Given the description of an element on the screen output the (x, y) to click on. 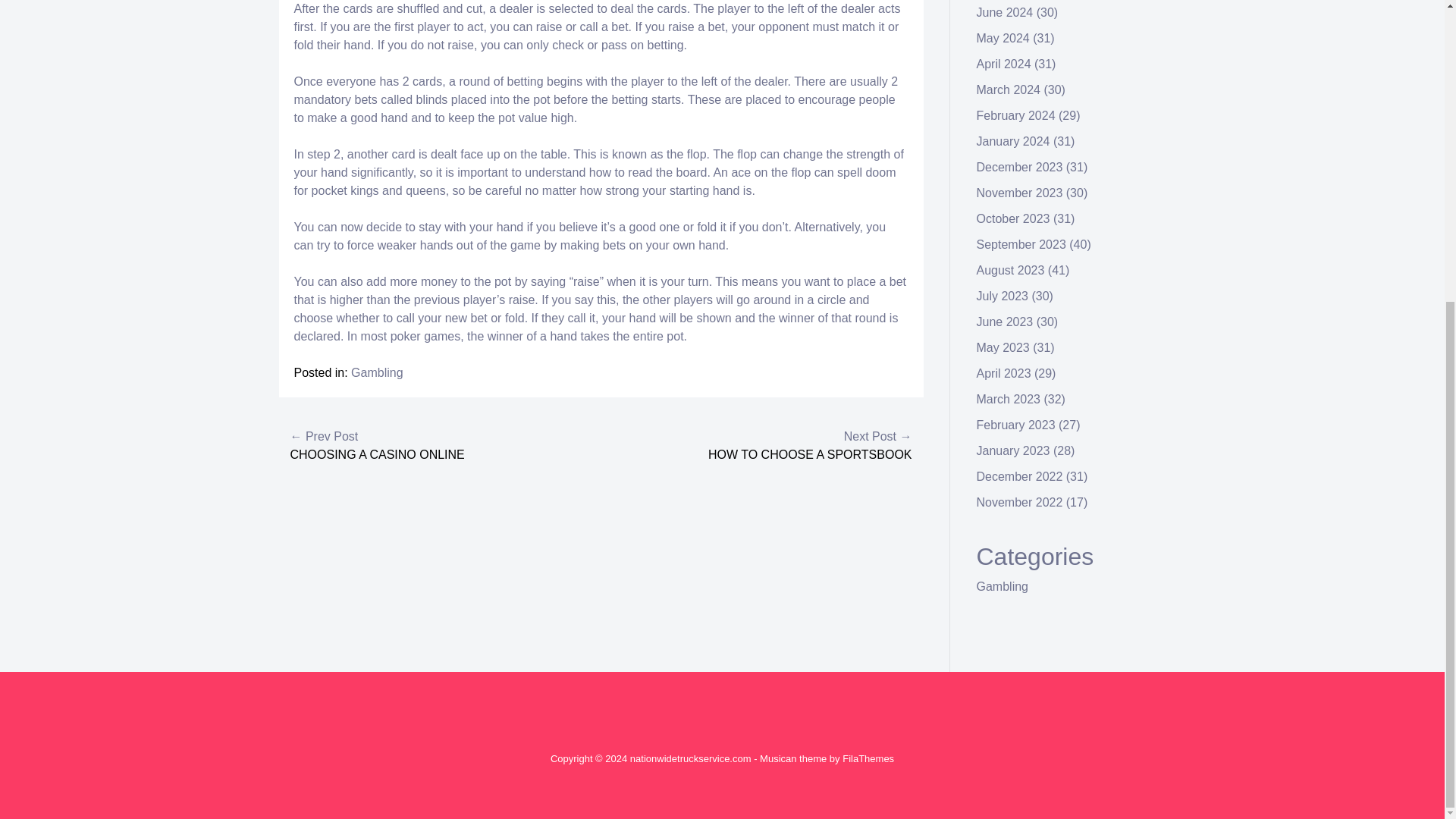
nationwidetruckservice.com (690, 758)
November 2023 (1019, 192)
May 2023 (1002, 347)
October 2023 (1012, 218)
February 2024 (1015, 115)
February 2023 (1015, 424)
nationwidetruckservice.com (690, 758)
July 2023 (1002, 295)
March 2024 (1008, 89)
June 2024 (1004, 11)
September 2023 (1020, 244)
January 2024 (1012, 141)
November 2022 (1019, 502)
Gambling (1001, 585)
January 2023 (1012, 450)
